Given the description of an element on the screen output the (x, y) to click on. 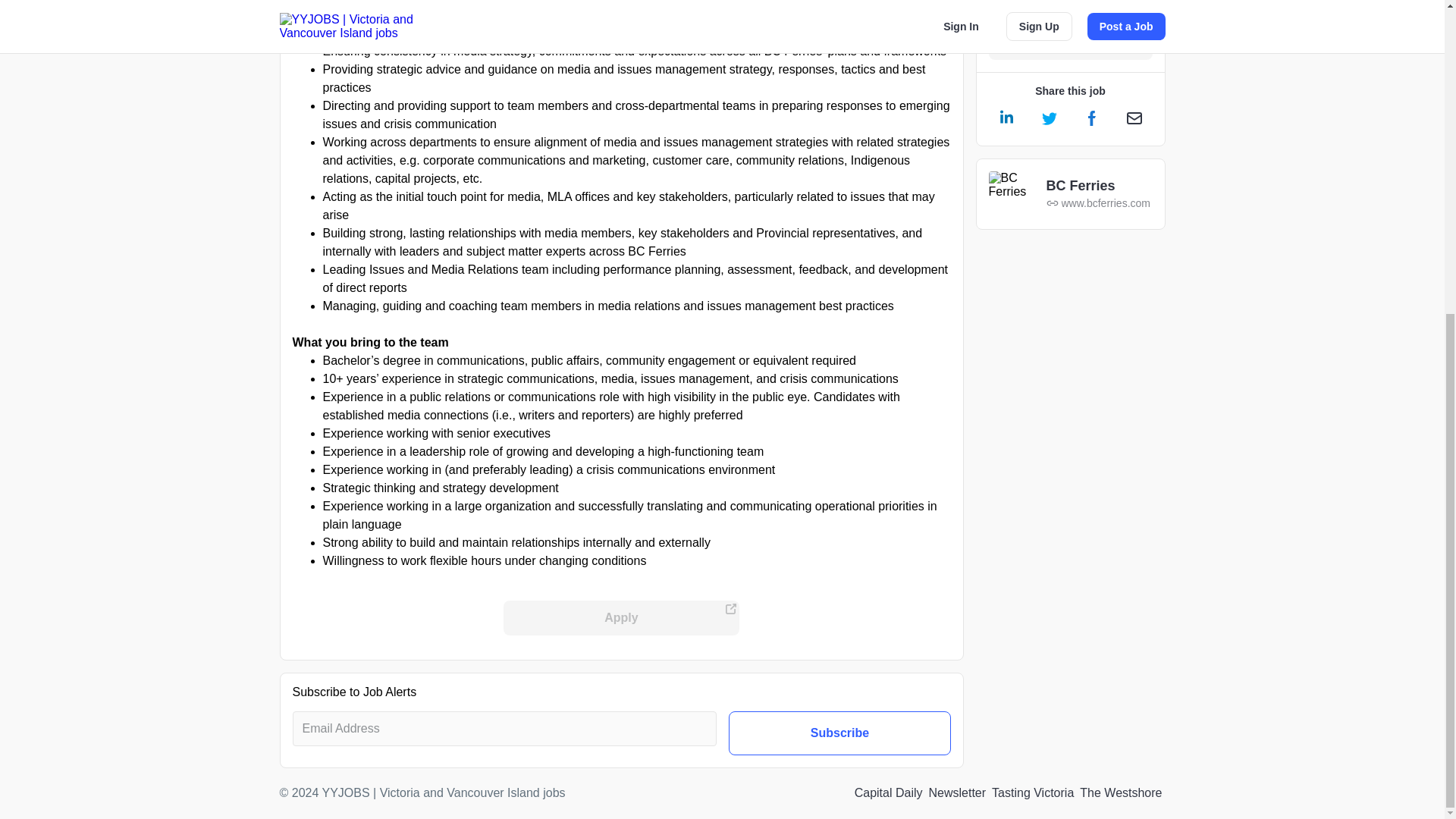
Subscribe (839, 733)
The Westshore (1120, 793)
Tasting Victoria (1032, 793)
Newsletter (958, 793)
Capital Daily (888, 793)
Apply (621, 617)
